Given the description of an element on the screen output the (x, y) to click on. 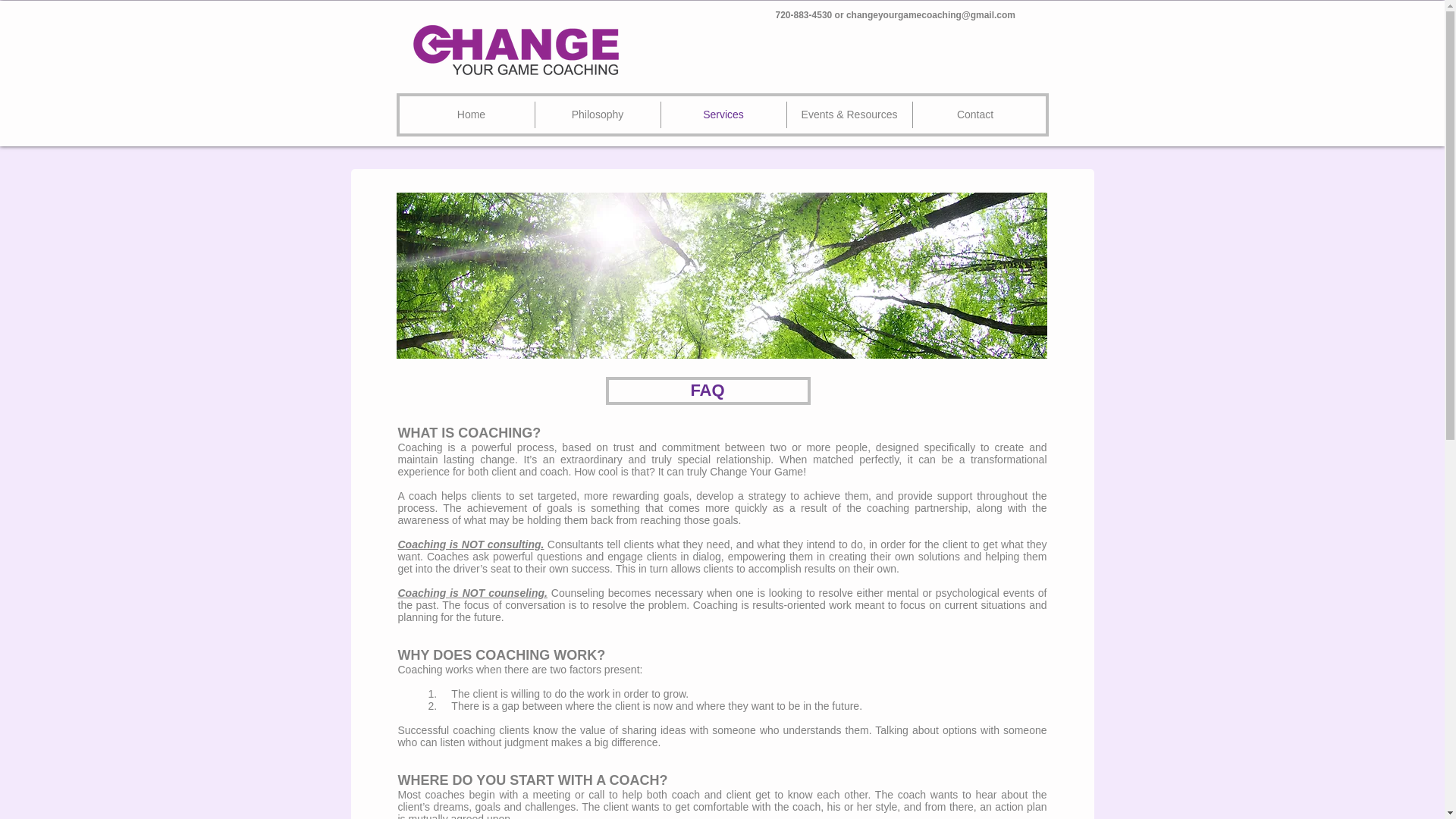
Contact (975, 114)
Philosophy (598, 114)
Services (723, 114)
Forest Trees (721, 275)
Home (470, 114)
